Given the description of an element on the screen output the (x, y) to click on. 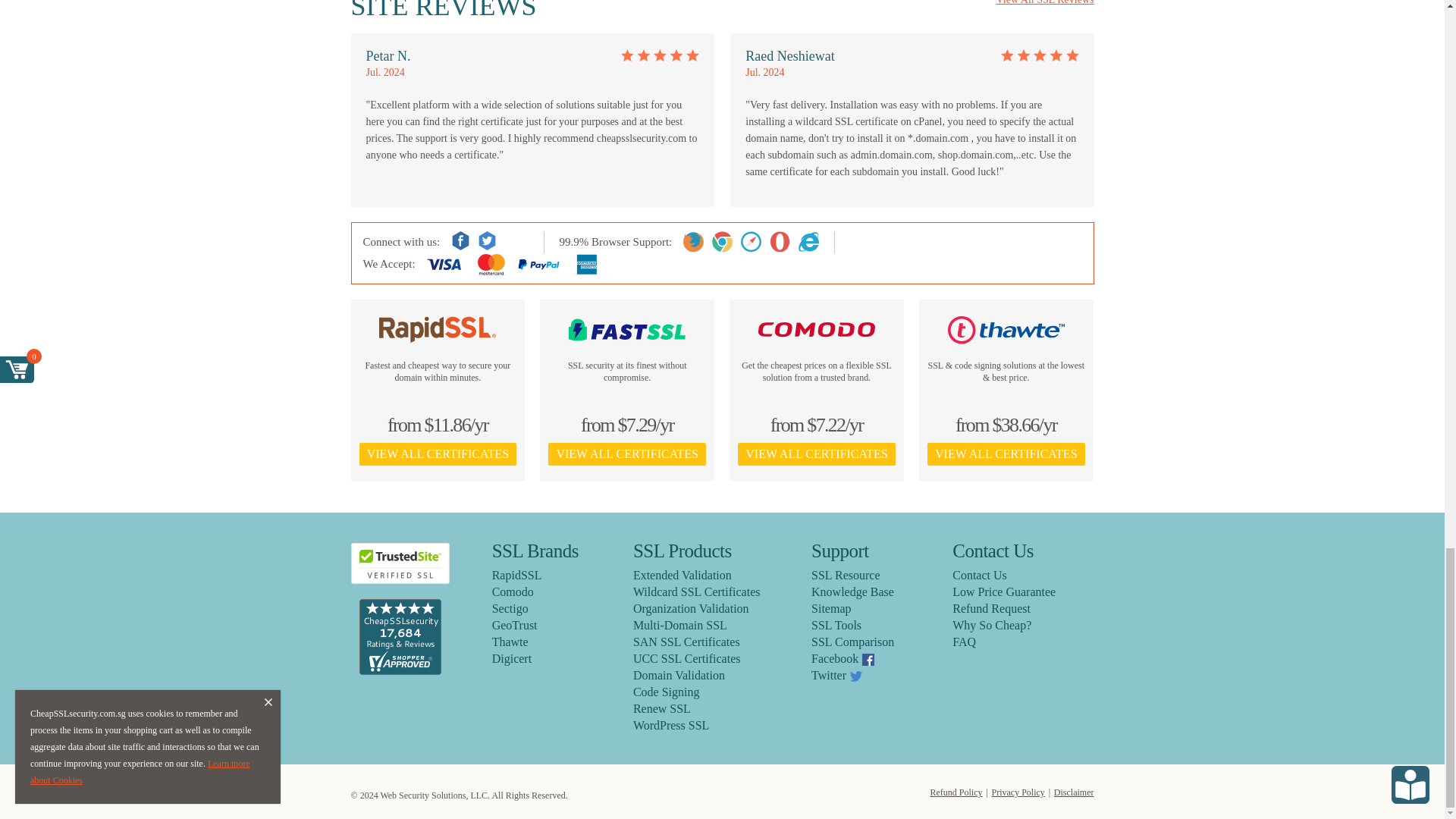
View All Certificates (626, 454)
View All Certificates (437, 454)
View All Certificates (816, 454)
View All Certificates (1005, 454)
